Given the description of an element on the screen output the (x, y) to click on. 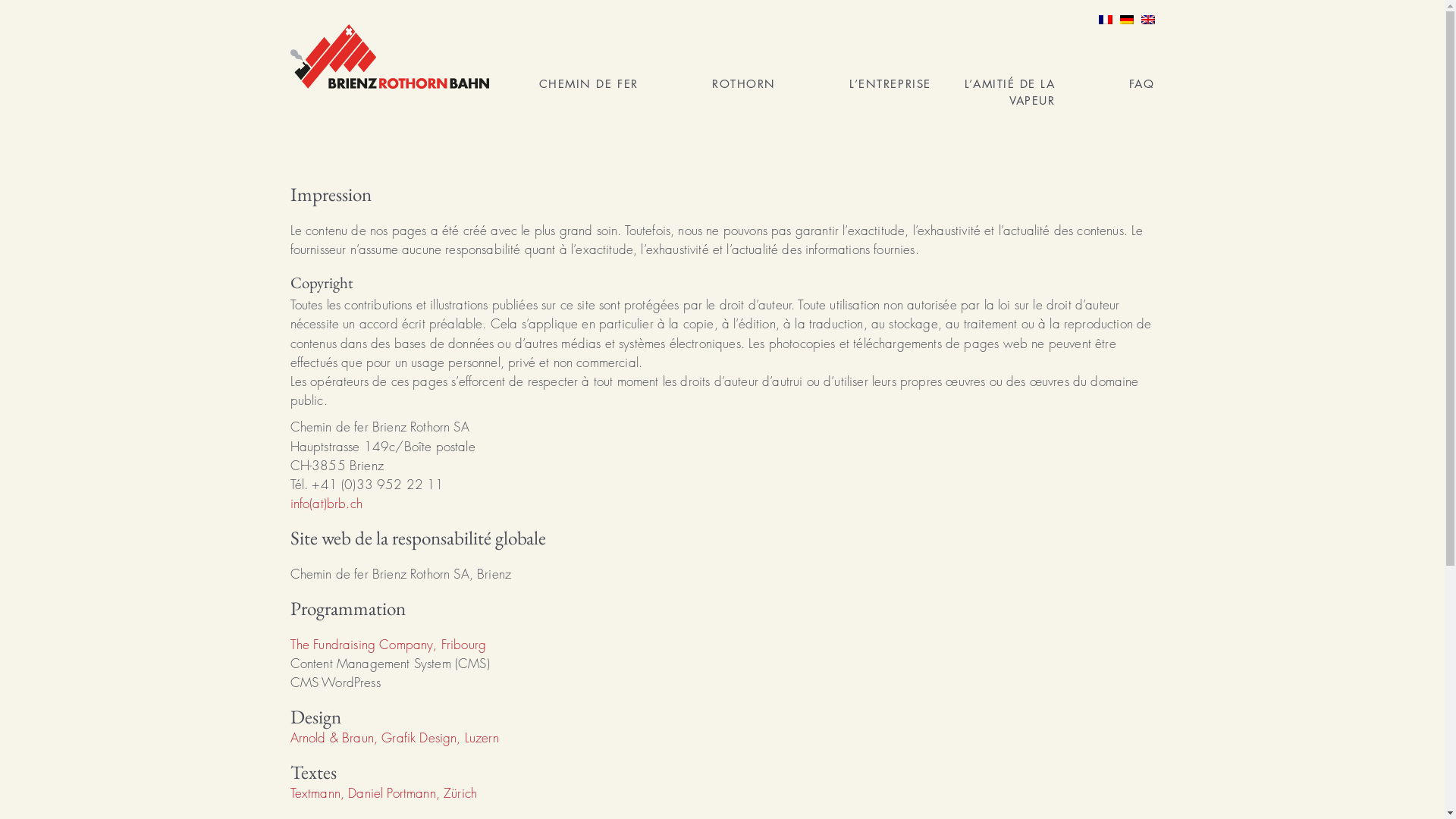
info(at)brb.ch Element type: text (325, 502)
FAQ Element type: text (1141, 83)
CHEMIN DE FER Element type: text (588, 83)
The Fundraising Company, Fribourg Element type: text (387, 643)
ROTHORN Element type: text (743, 83)
Arnold & Braun, Grafik Design, Luzern Element type: text (393, 737)
